Given the description of an element on the screen output the (x, y) to click on. 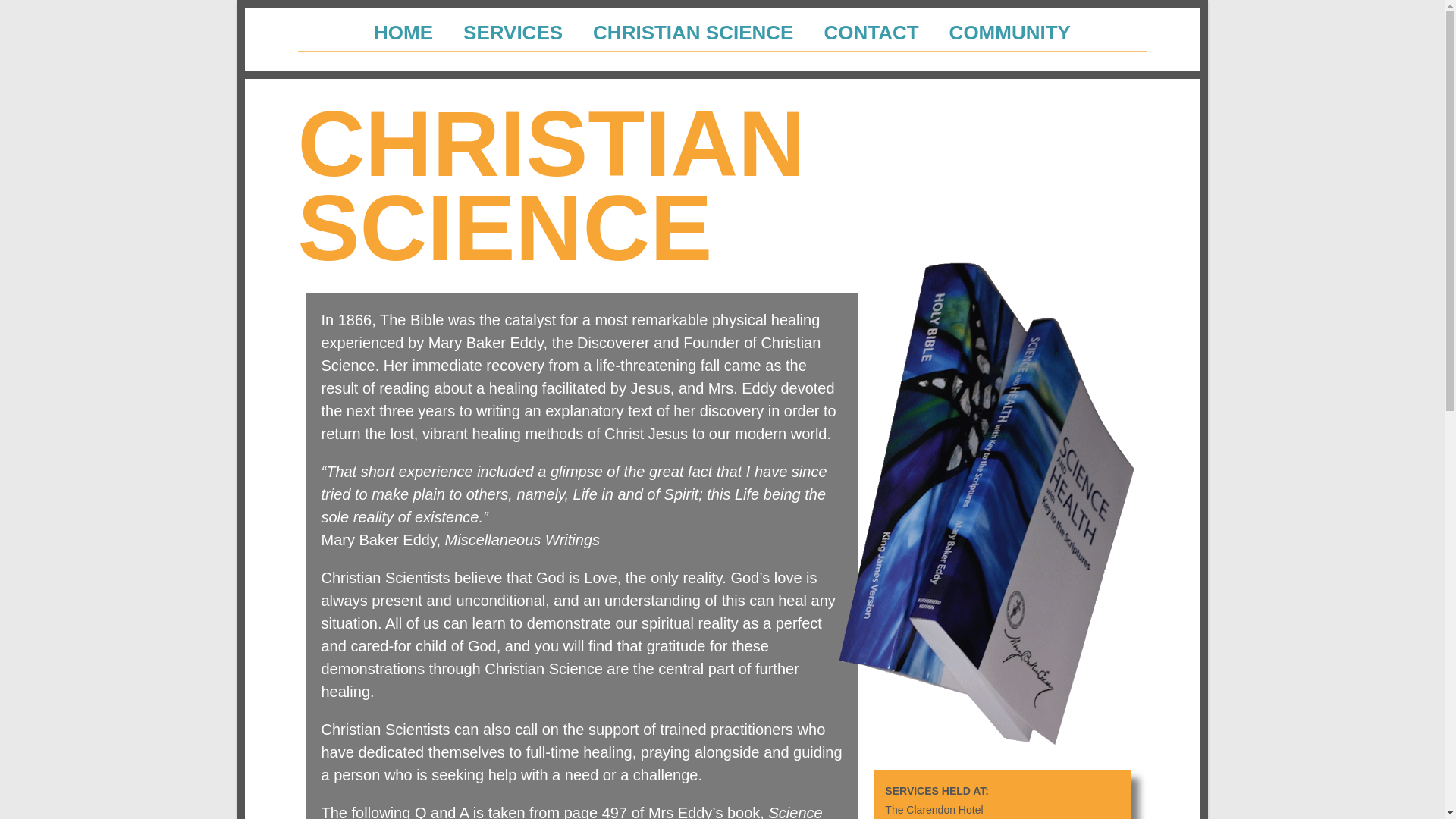
SERVICES (513, 32)
CONTACT (870, 32)
COMMUNITY (1010, 32)
HOME (403, 32)
CHRISTIAN SCIENCE (693, 32)
